Given the description of an element on the screen output the (x, y) to click on. 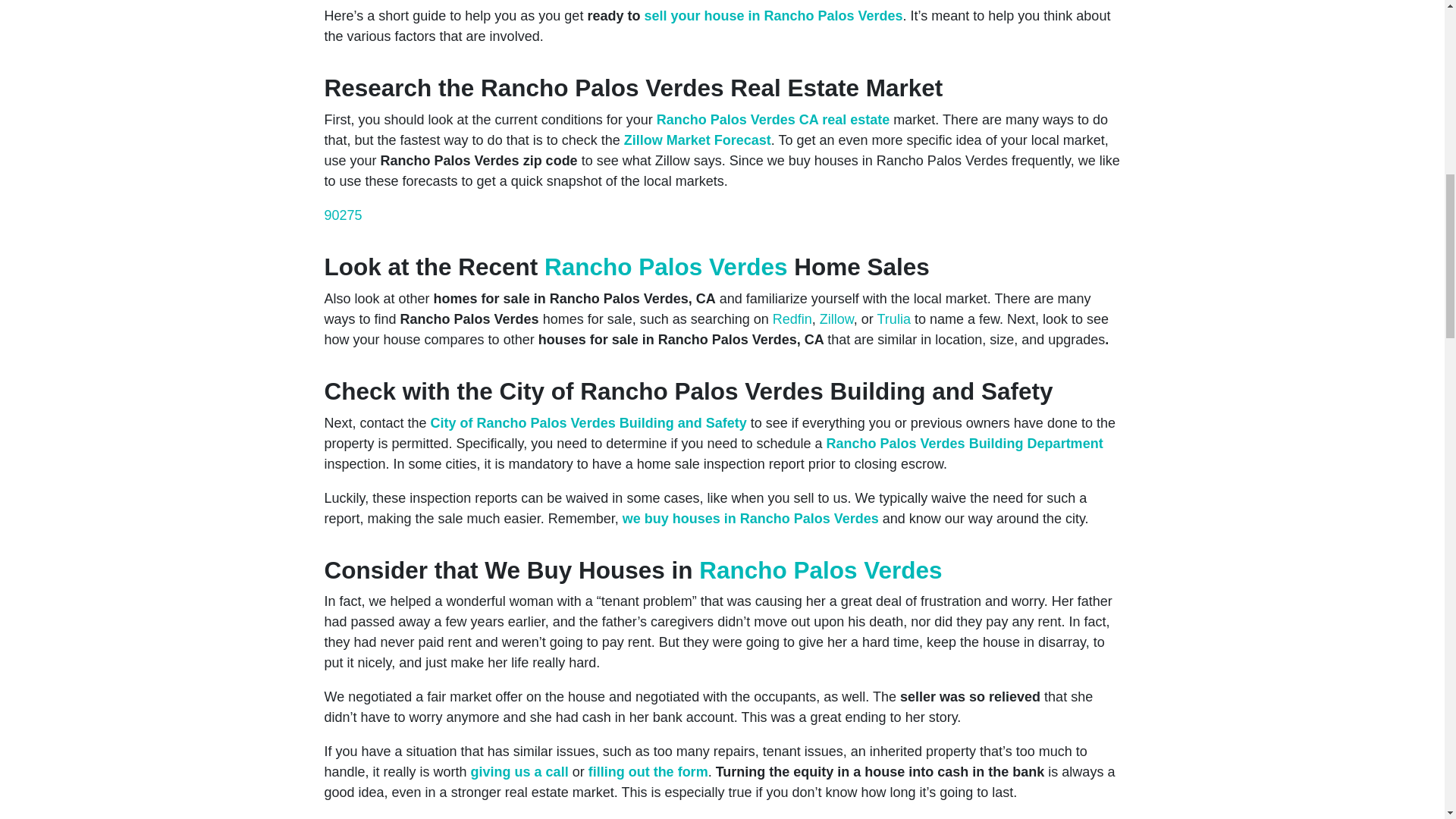
90275 (343, 215)
Redfin (792, 319)
Zillow (836, 319)
City of Rancho Palos Verdes Building and Safety (588, 422)
Zillow Market Forecast (697, 140)
sell your house in Rancho Palos Verdes (772, 15)
Rancho Palos Verdes Building Department (965, 443)
Rancho Palos Verdes (665, 266)
we buy houses in Rancho Palos Verdes (751, 518)
Rancho Palos Verdes (725, 119)
Rancho Palos Verdes (820, 569)
Trulia (894, 319)
 CA real estate (843, 119)
giving us a call (519, 771)
filling out the form (647, 771)
